Given the description of an element on the screen output the (x, y) to click on. 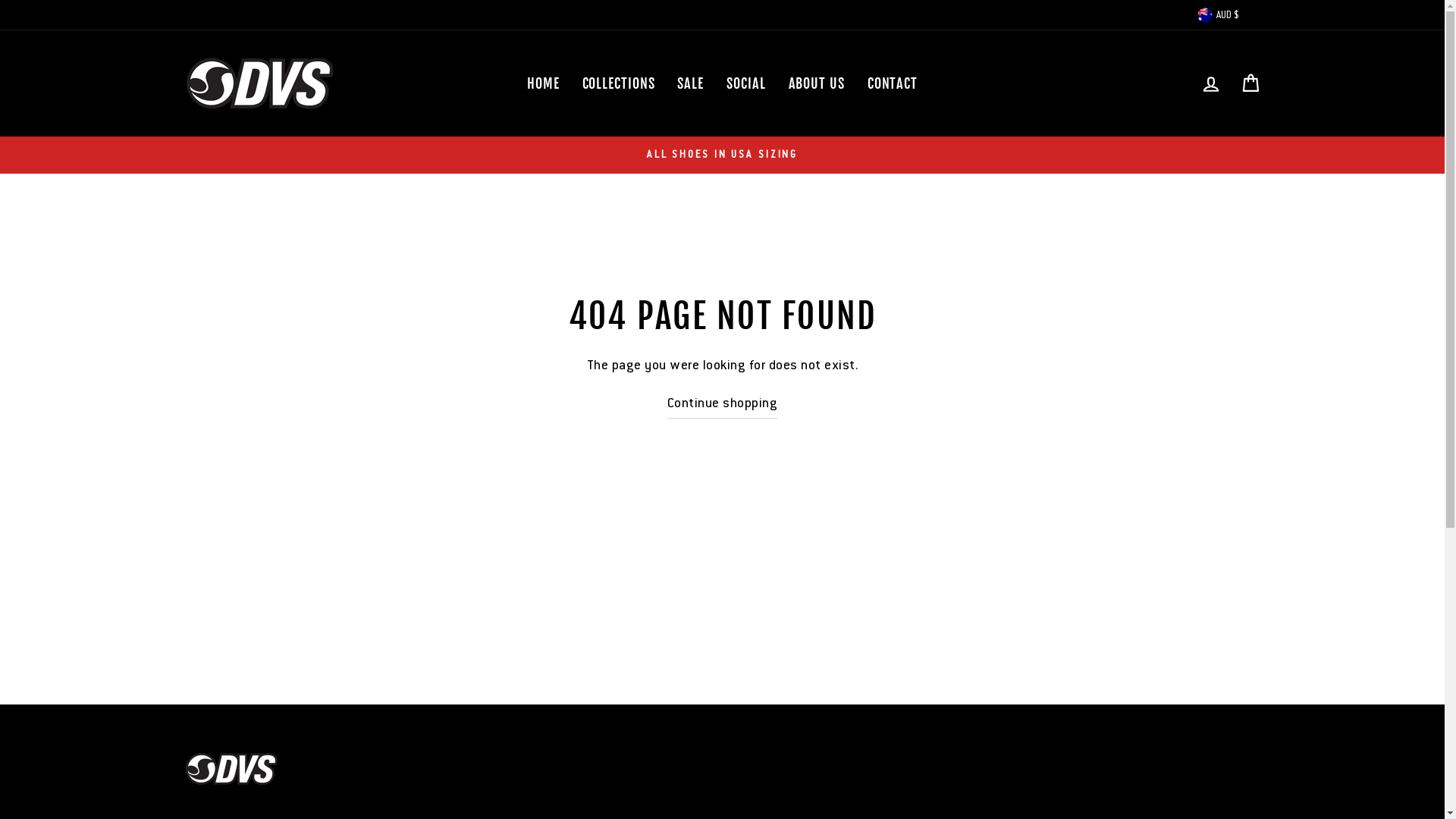
CONTACT Element type: text (892, 83)
HOME Element type: text (543, 83)
COLLECTIONS Element type: text (618, 83)
Skip to content Element type: text (0, 0)
CART Element type: text (1249, 82)
SALE Element type: text (690, 83)
LOG IN Element type: text (1210, 82)
ABOUT US Element type: text (815, 83)
Continue shopping Element type: text (722, 402)
SOCIAL Element type: text (745, 83)
AUD $ Element type: text (1226, 14)
